Given the description of an element on the screen output the (x, y) to click on. 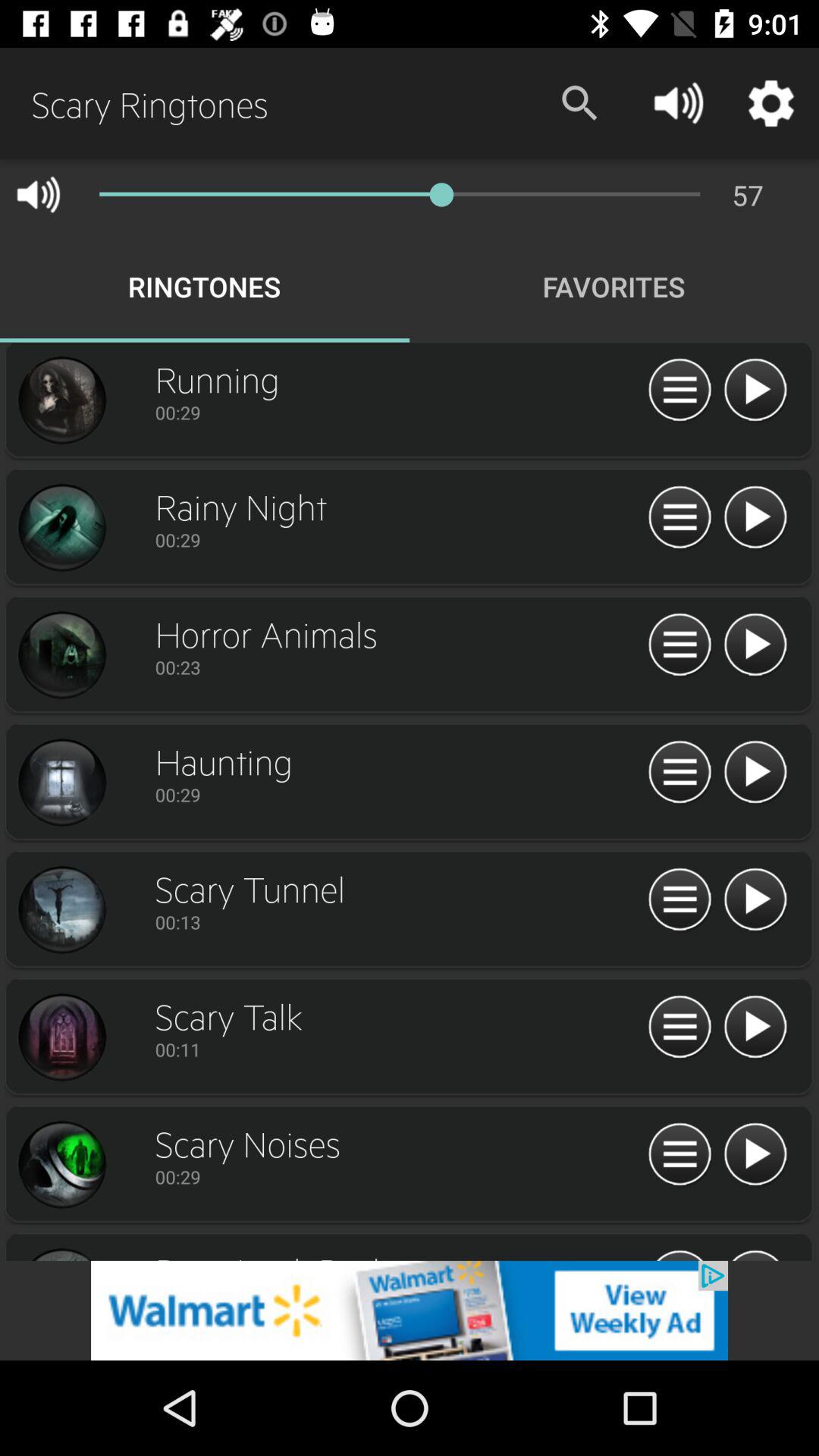
options/ menu (679, 900)
